Given the description of an element on the screen output the (x, y) to click on. 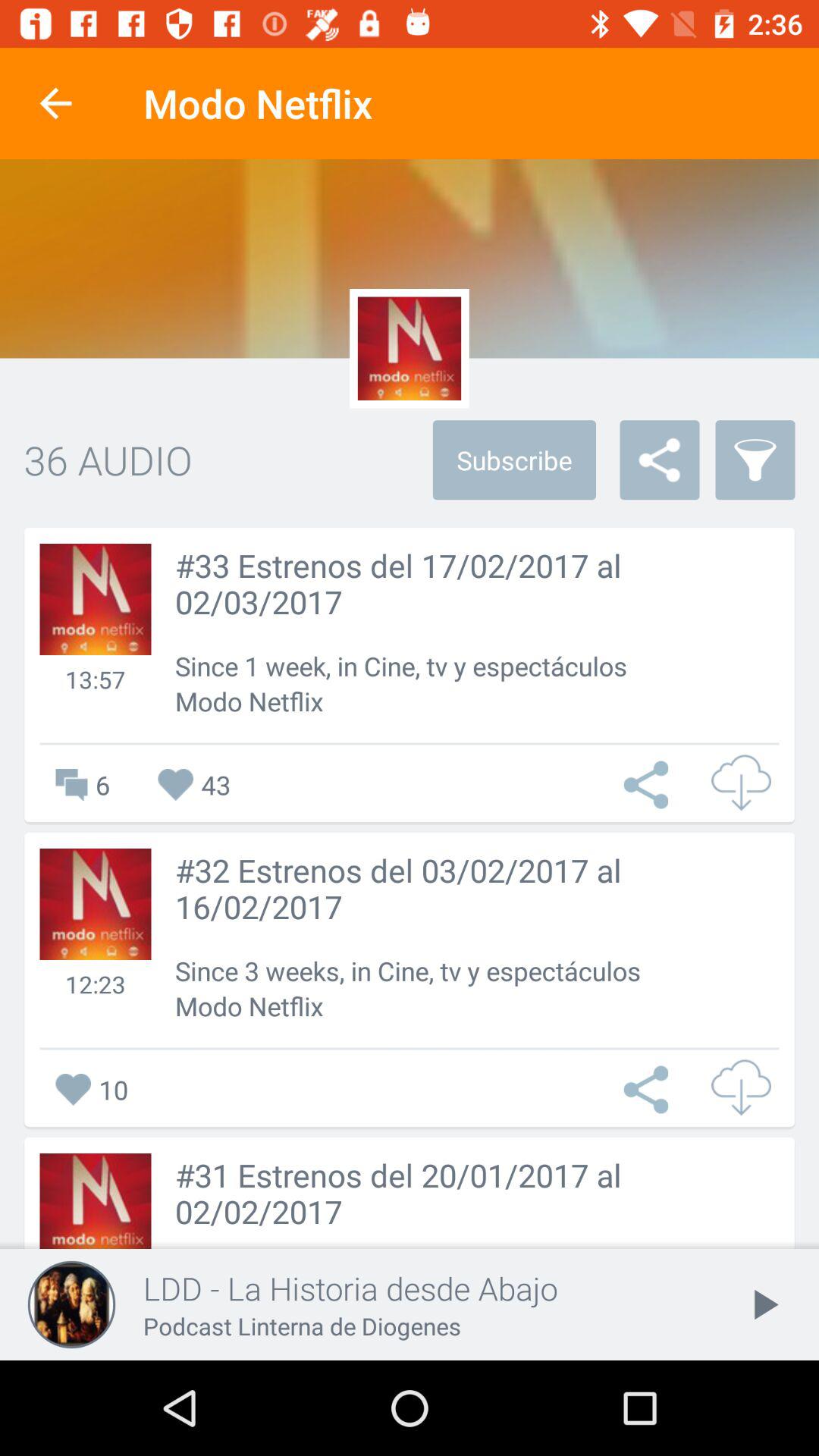
share podcast (649, 1089)
